Given the description of an element on the screen output the (x, y) to click on. 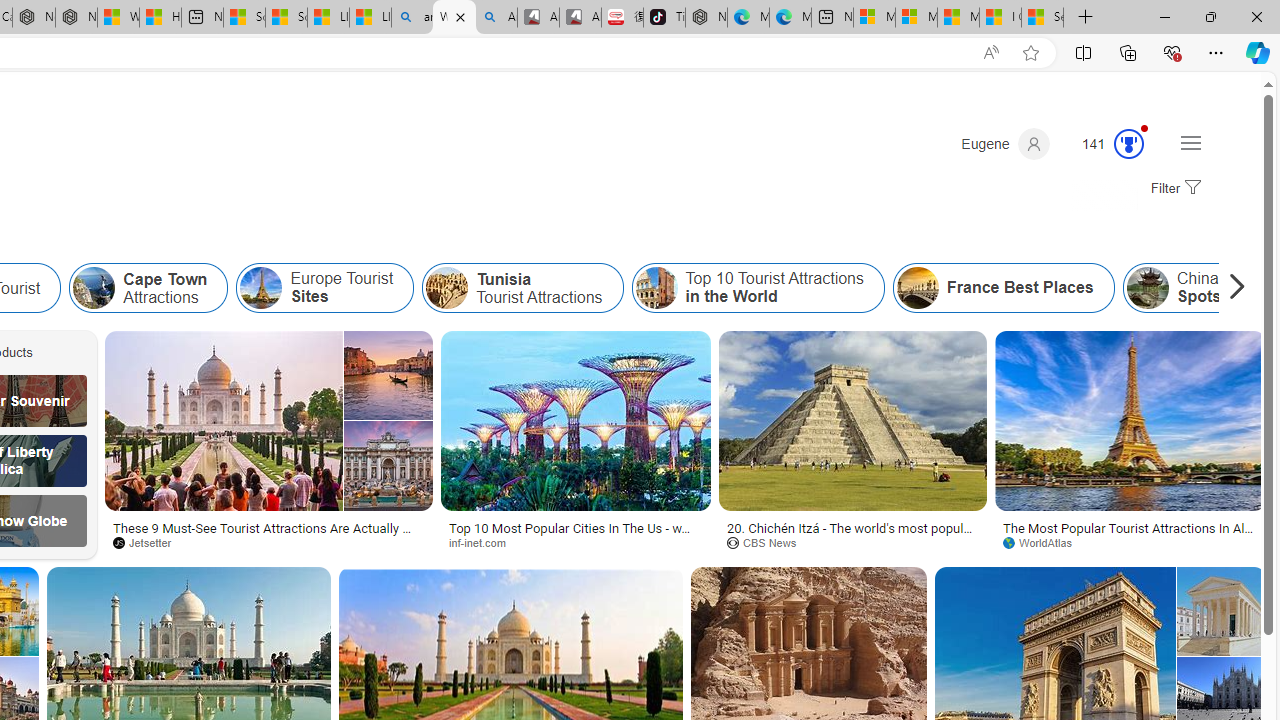
Top 10 Tourist Attractions in the World (758, 287)
I Gained 20 Pounds of Muscle in 30 Days! | Watch (1000, 17)
Class: item col (1003, 287)
Jetsetter (148, 541)
France Best Places (1003, 287)
TikTok (663, 17)
World tourist attraction - Search Images (453, 17)
Microsoft Rewards 138 (1105, 143)
